Given the description of an element on the screen output the (x, y) to click on. 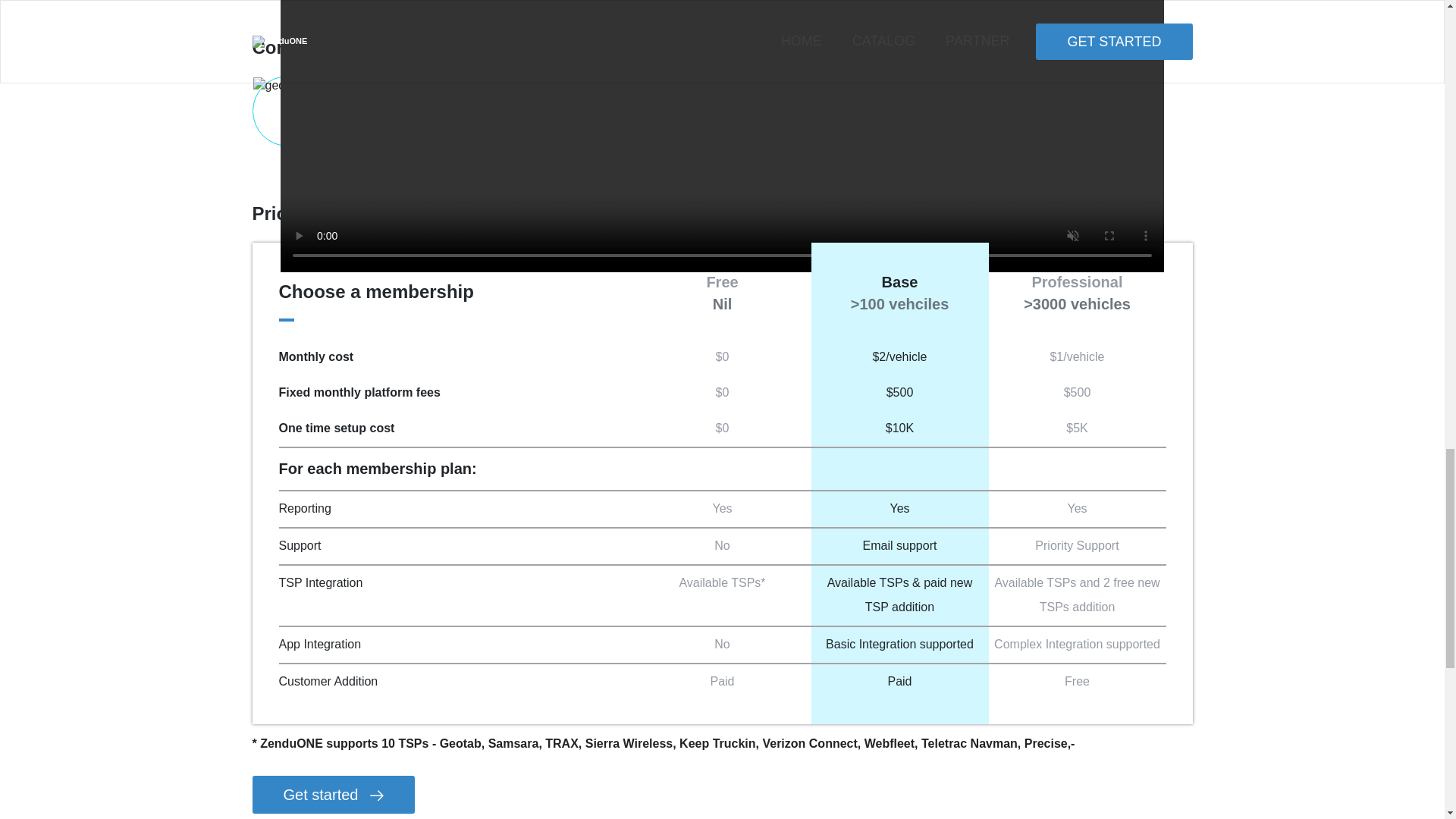
Get started (332, 794)
